Given the description of an element on the screen output the (x, y) to click on. 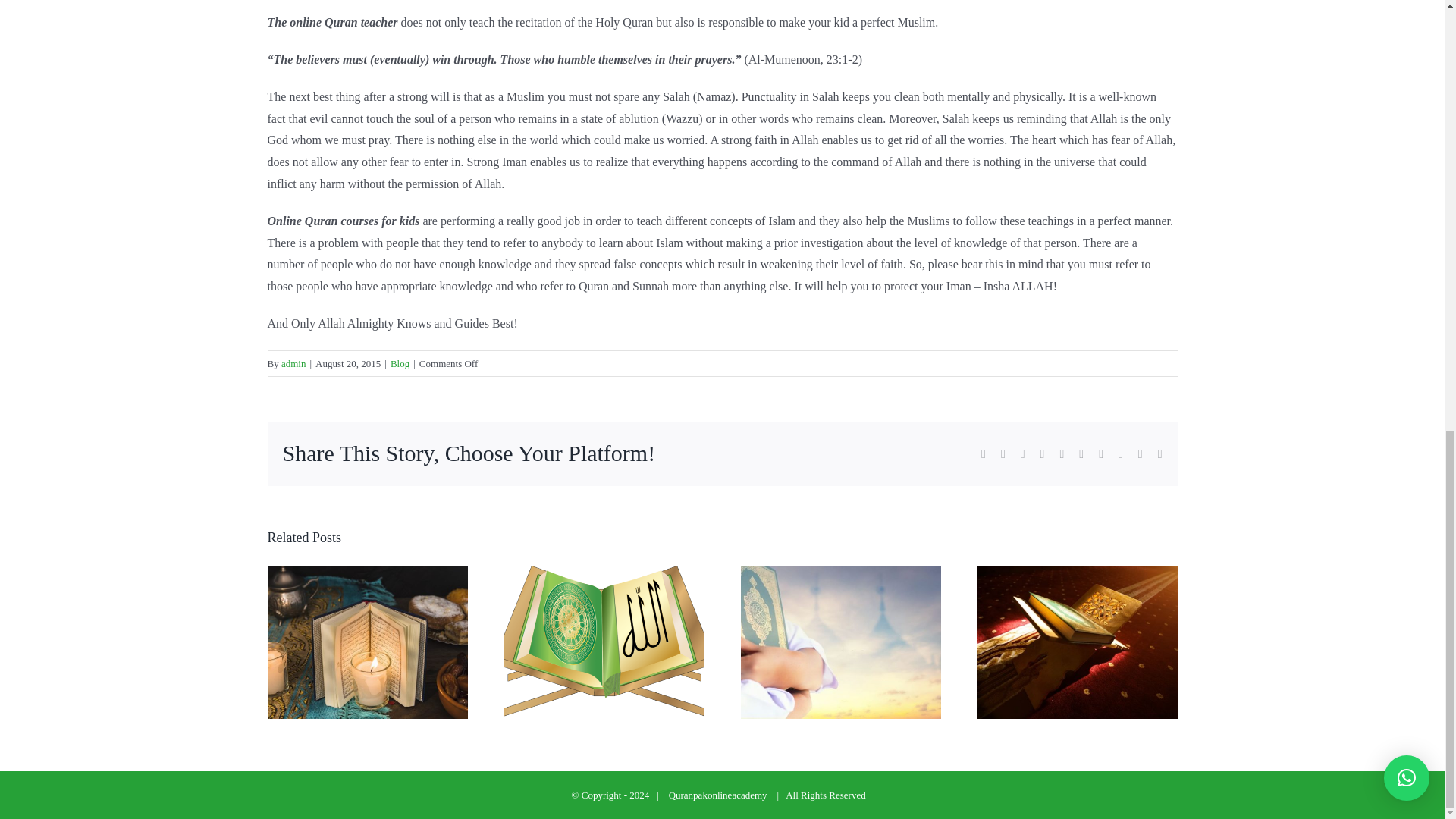
Posts by admin (293, 363)
admin (293, 363)
Blog (399, 363)
